Given the description of an element on the screen output the (x, y) to click on. 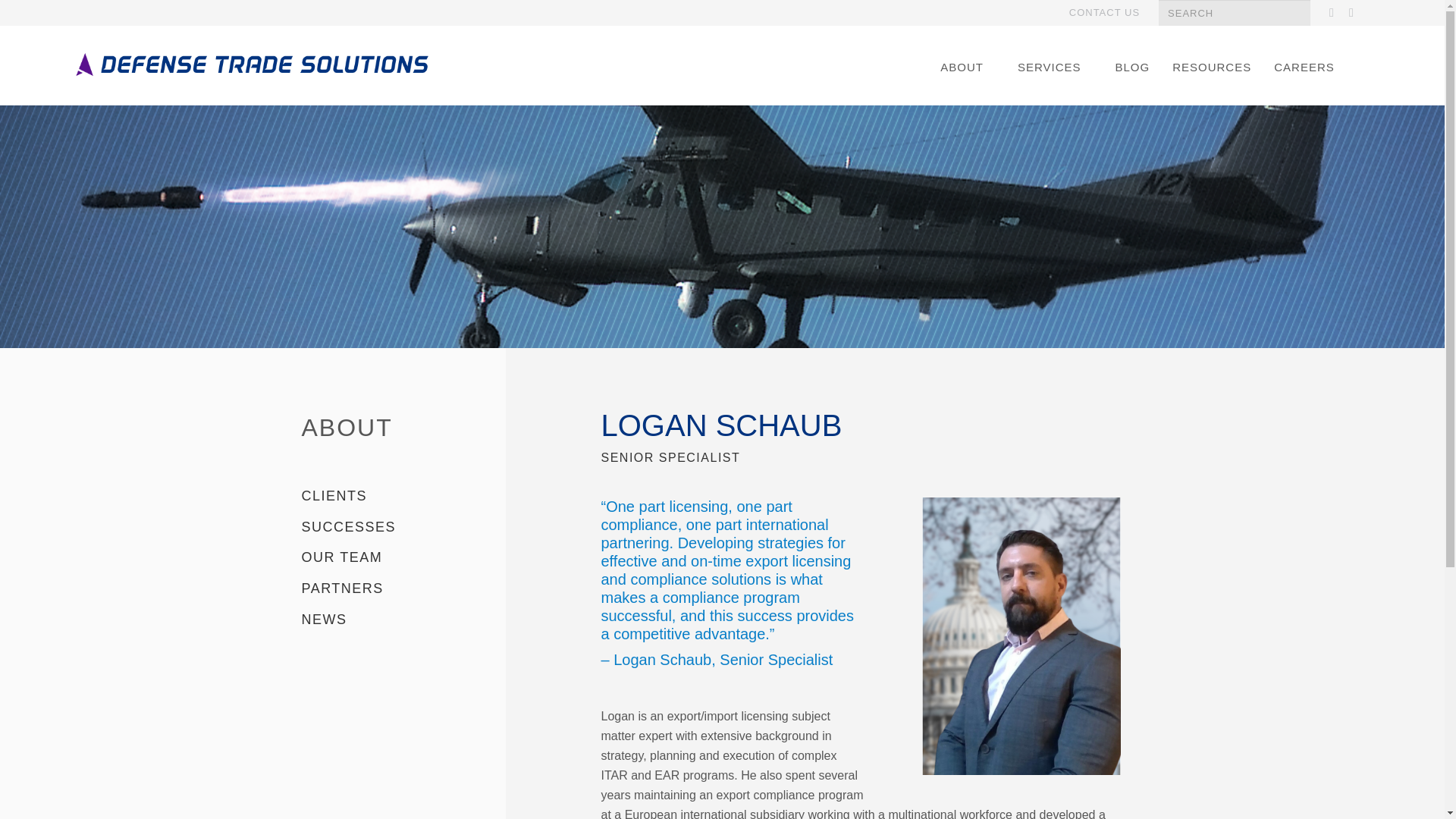
PARTNERS (342, 588)
CLIENTS (334, 495)
SERVICES (1054, 67)
OUR TEAM (341, 557)
ABOUT (347, 427)
BLOG (1132, 67)
NEWS (324, 619)
ABOUT (967, 67)
SUCCESSES (348, 526)
RESOURCES (1211, 67)
